Given the description of an element on the screen output the (x, y) to click on. 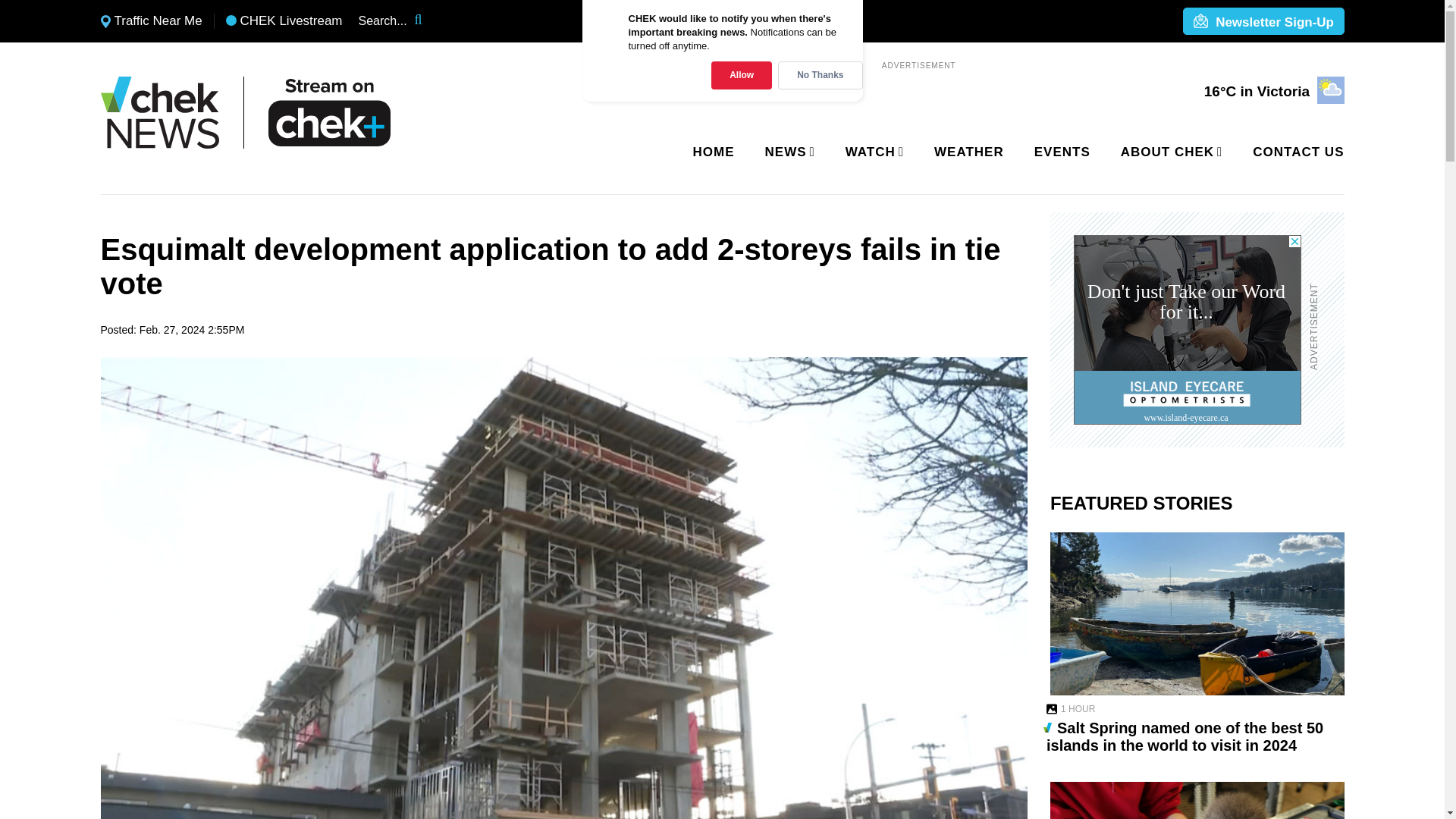
Newsletter Sign-Up (1262, 22)
NEWS (787, 152)
CHEK Livestream (283, 20)
Traffic Near Me (151, 20)
Search (428, 21)
3rd party ad content (1187, 330)
HOME (714, 152)
